Given the description of an element on the screen output the (x, y) to click on. 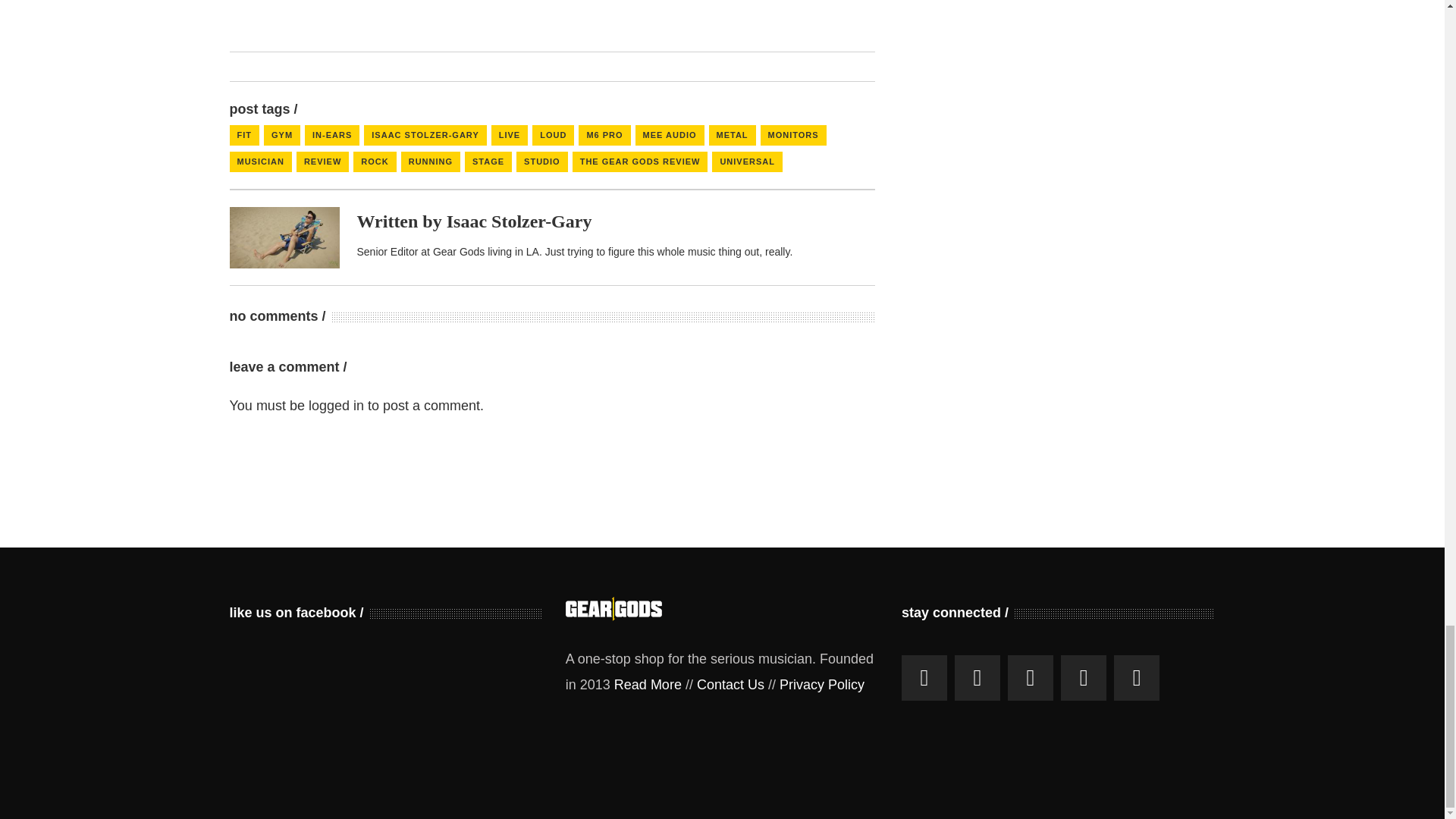
MEE AUDIO M6 Pro In-Ears: The Gear Gods Review (283, 237)
MEE AUDIO M6 Pro In-Ears: The Gear Gods Review (519, 220)
